Given the description of an element on the screen output the (x, y) to click on. 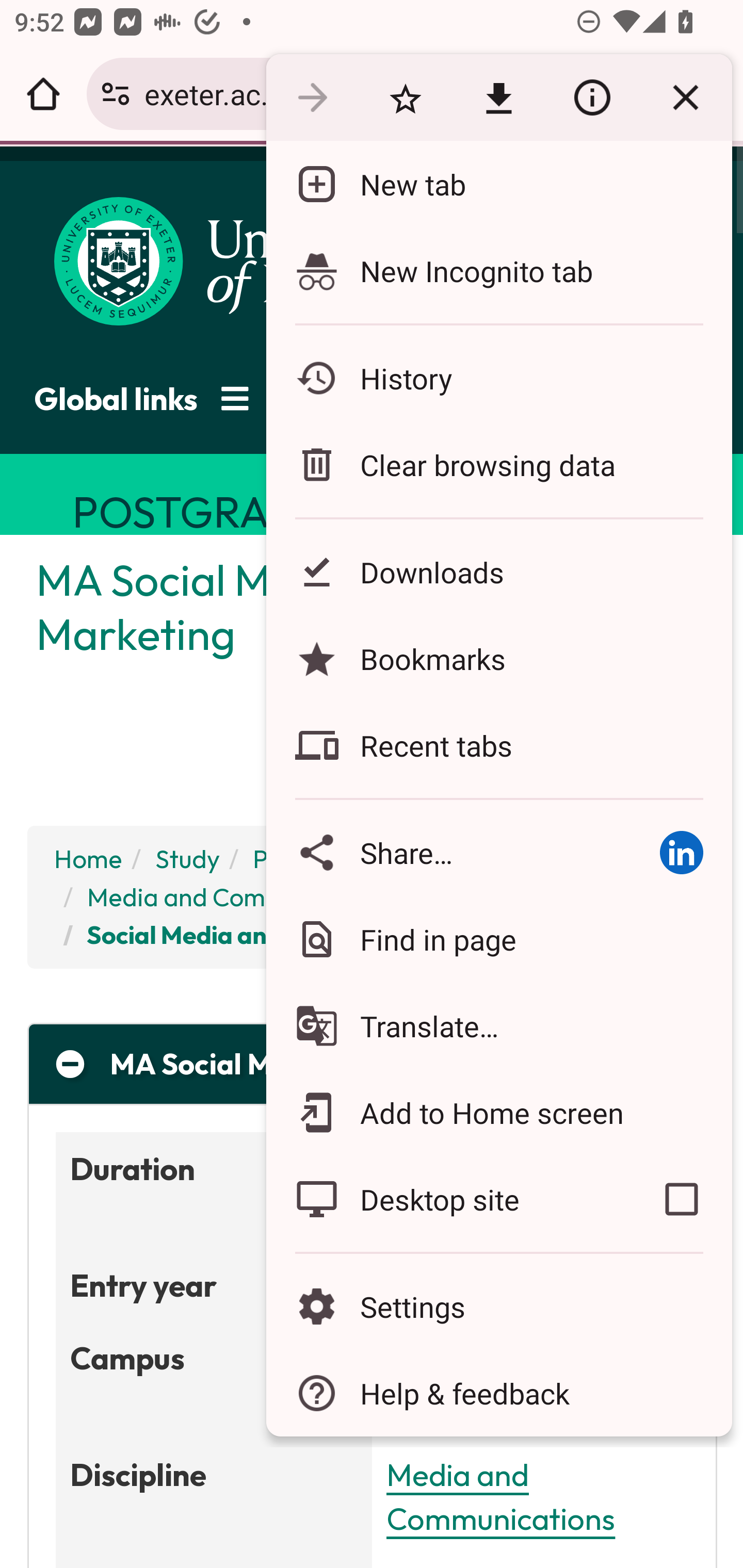
Forward (311, 97)
Bookmark (404, 97)
Download (498, 97)
Page info (591, 97)
Stop refreshing (684, 97)
New tab (498, 184)
New Incognito tab (498, 270)
History (498, 377)
Clear browsing data (498, 464)
Downloads (498, 571)
Bookmarks (498, 658)
Recent tabs (498, 745)
Share… (447, 852)
Share via Share in a post (680, 852)
Find in page (498, 939)
Translate… (498, 1026)
Add to Home screen (498, 1112)
Desktop site Turn on Request desktop site (447, 1198)
Settings (498, 1306)
Help & feedback (498, 1393)
